Given the description of an element on the screen output the (x, y) to click on. 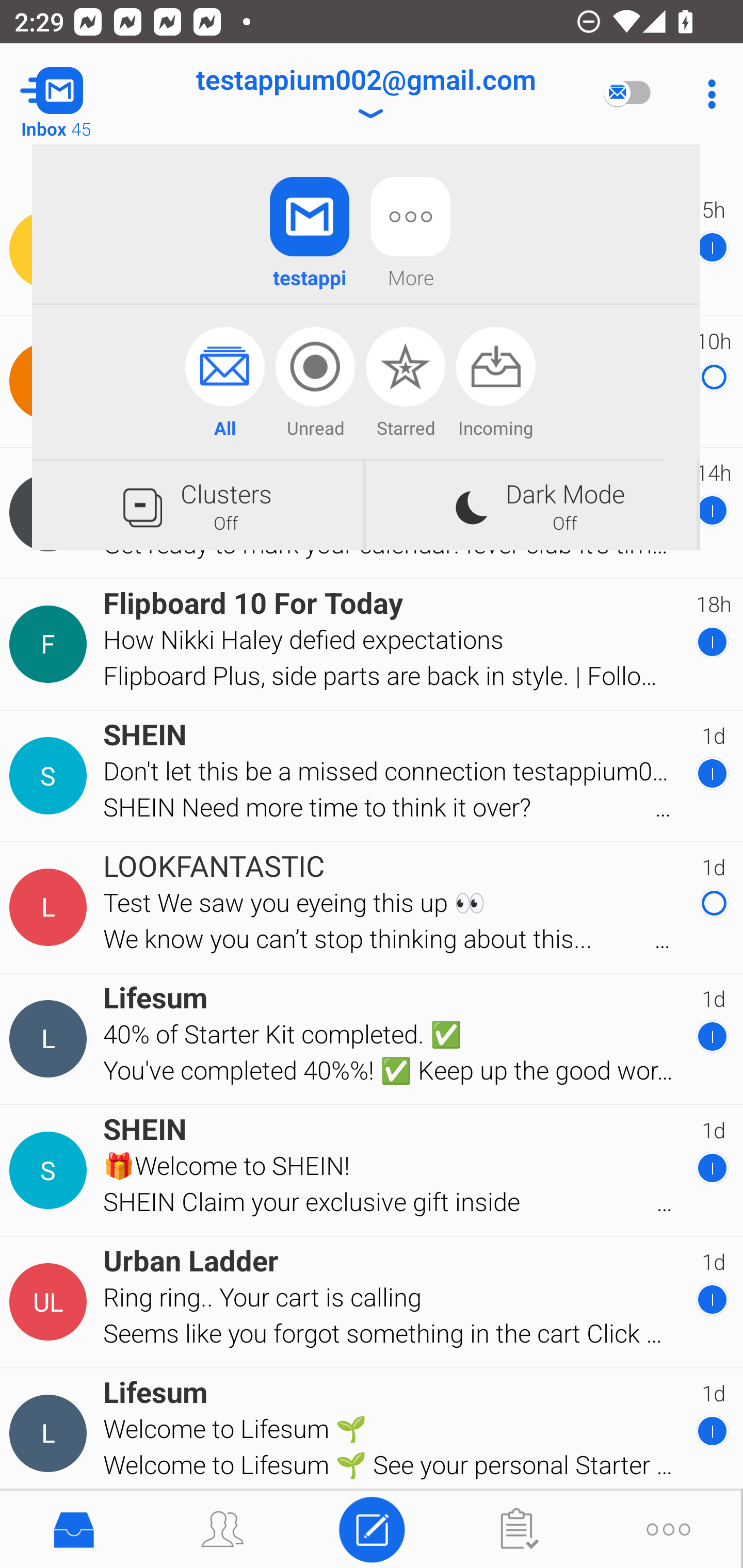
Clusters Off (196, 505)
Dark Mode Off (530, 505)
